Given the description of an element on the screen output the (x, y) to click on. 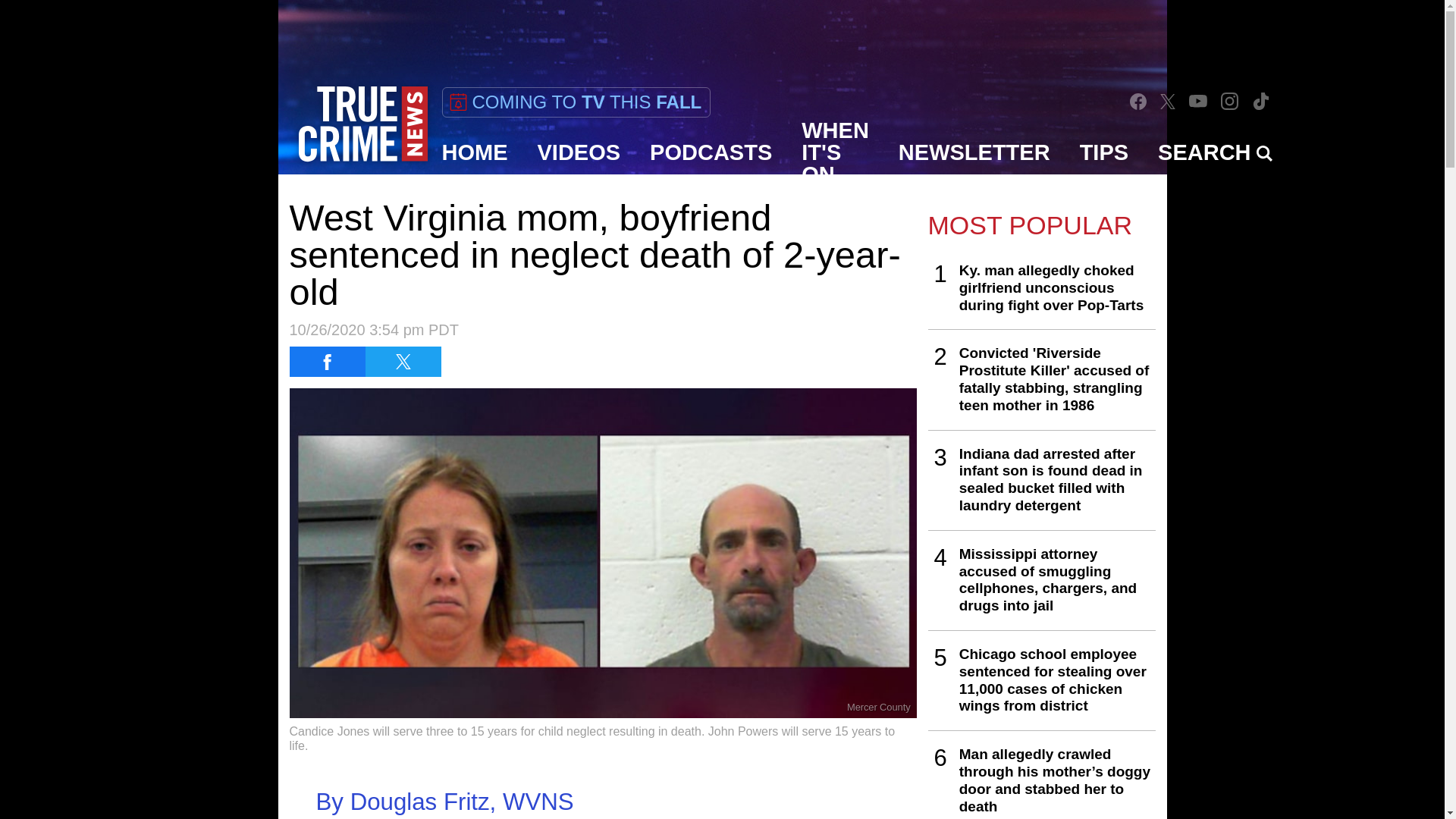
Instagram (1229, 101)
Twitter (1167, 100)
Facebook (1137, 101)
TIPS (1103, 152)
COMING TO TV THIS FALL (575, 101)
Twitter (1167, 101)
YouTube (1198, 101)
WHEN IT'S ON (835, 152)
True Crime News (363, 124)
3rd party ad content (721, 33)
